Given the description of an element on the screen output the (x, y) to click on. 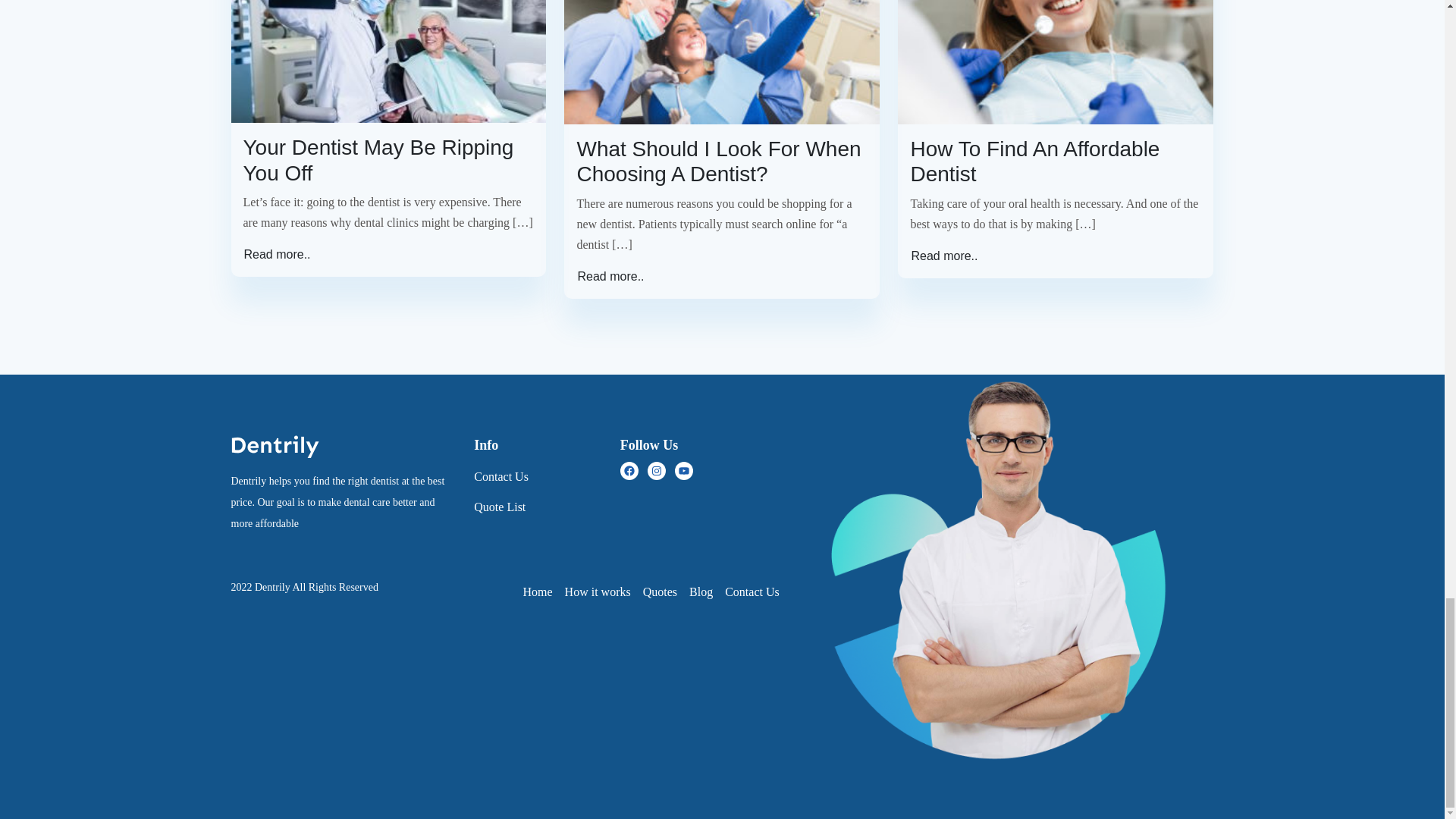
Dentrily (271, 586)
Facebook (629, 470)
Quotes (665, 592)
Instagram (656, 470)
Your Dentist May Be Ripping You Off (388, 160)
How it works (603, 592)
YouTube (684, 470)
Home (543, 592)
Quote List (537, 507)
Blog (706, 592)
